Given the description of an element on the screen output the (x, y) to click on. 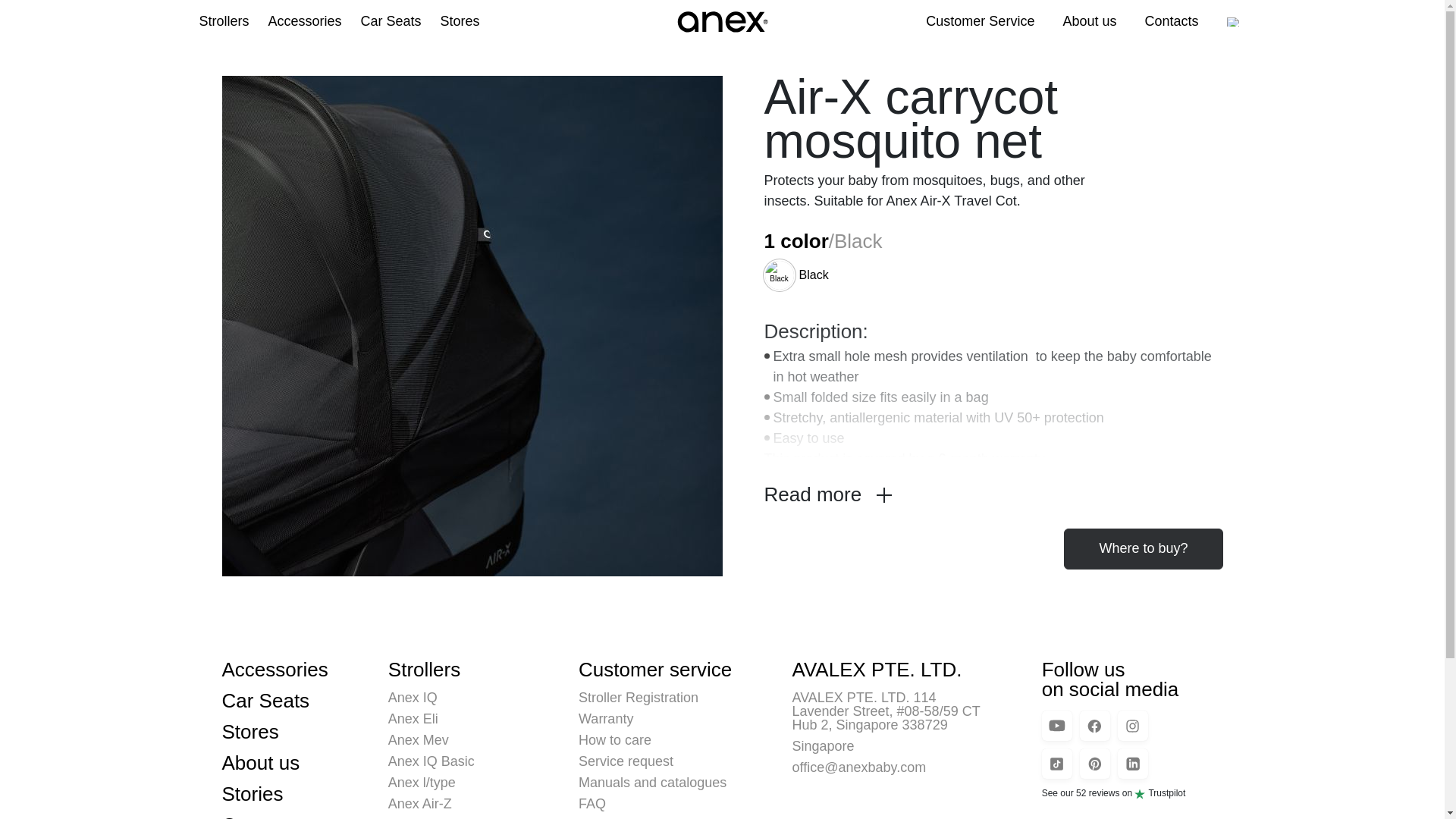
Customer Service (980, 21)
Accessories (304, 21)
Stores (460, 21)
Car Seats (391, 21)
About us (1089, 21)
Strollers (223, 21)
Contacts (1171, 21)
Anex (721, 21)
